Given the description of an element on the screen output the (x, y) to click on. 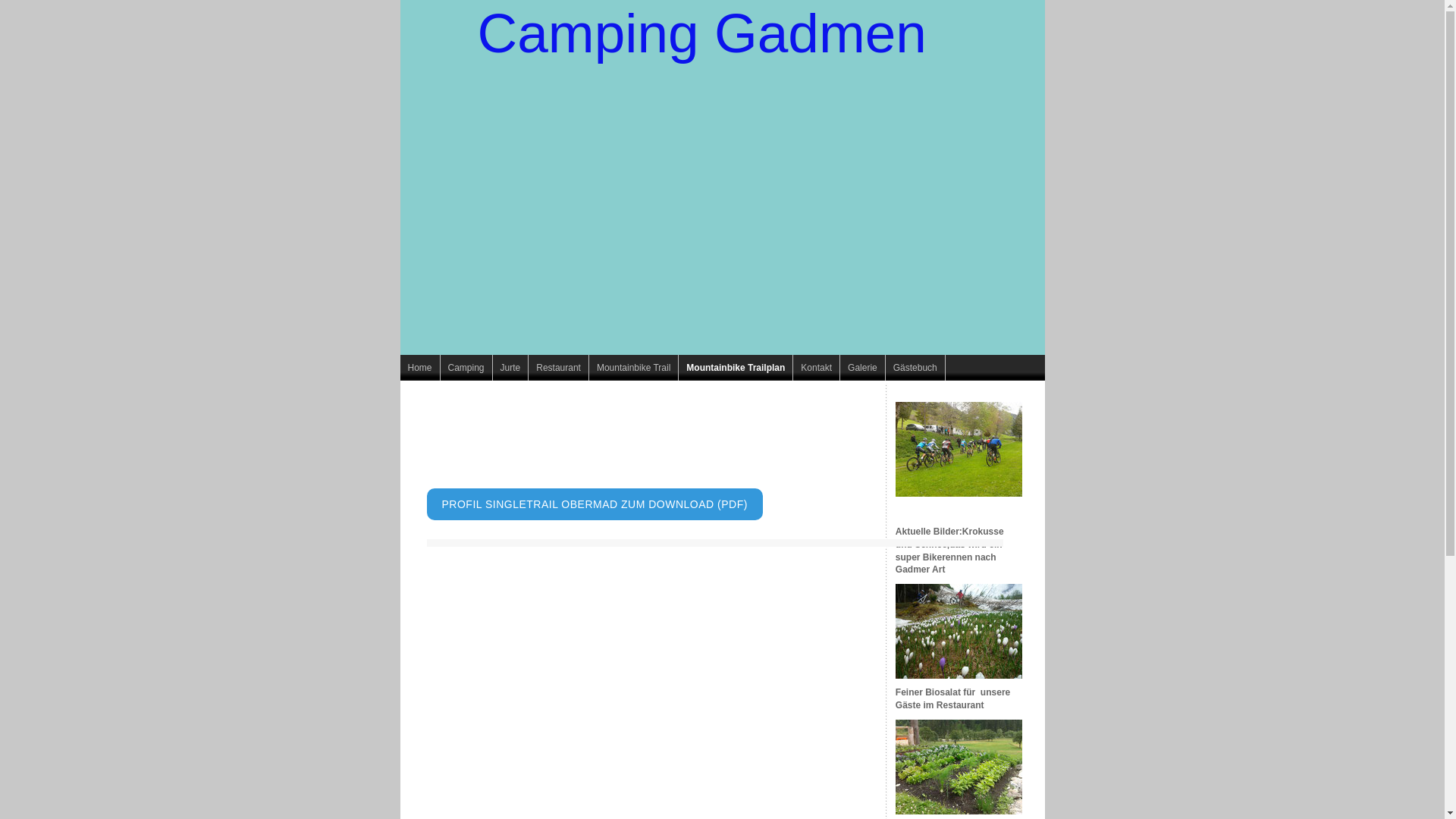
Mountainbike Trail Element type: text (633, 367)
PROFIL SINGLETRAIL OBERMAD ZUM DOWNLOAD (PDF) Element type: text (594, 504)
Kontakt Element type: text (816, 367)
Home Element type: text (420, 367)
Mountainbike Trailplan Element type: text (735, 367)
Galerie Element type: text (862, 367)
Jurte Element type: text (510, 367)
Camping Element type: text (466, 367)
Restaurant Element type: text (558, 367)
